Given the description of an element on the screen output the (x, y) to click on. 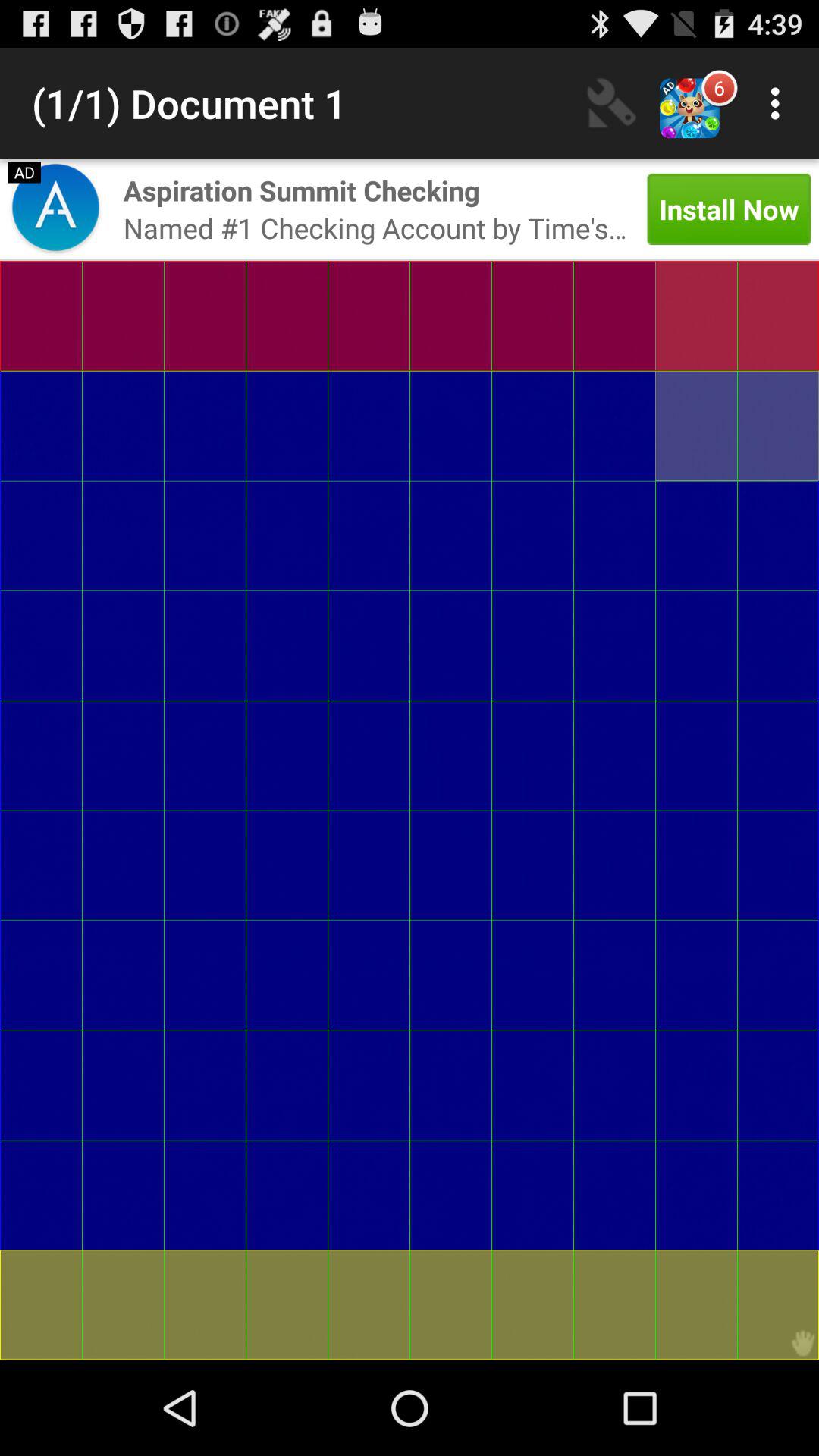
advertisement (55, 209)
